Given the description of an element on the screen output the (x, y) to click on. 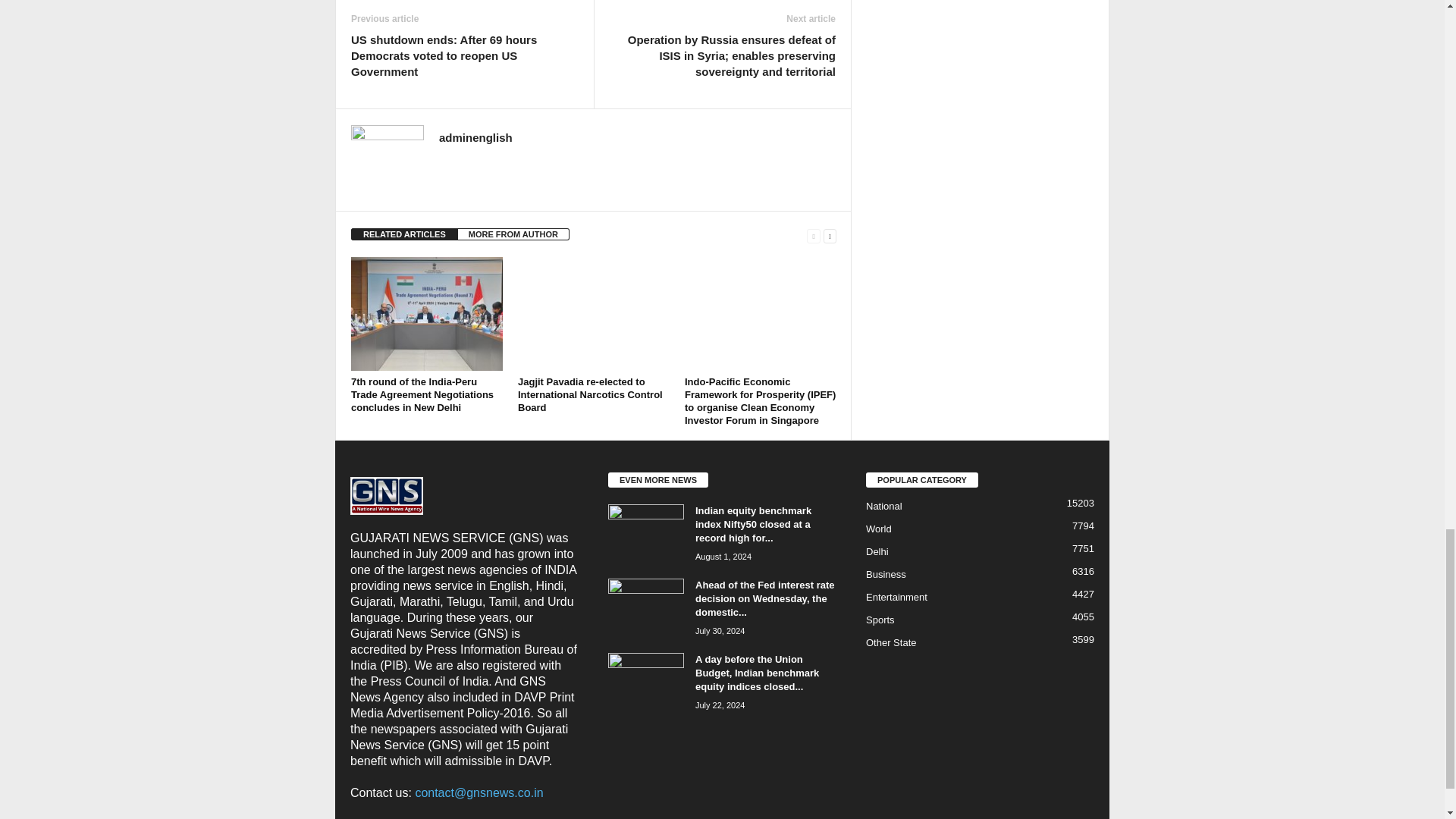
GNS News (386, 495)
